Given the description of an element on the screen output the (x, y) to click on. 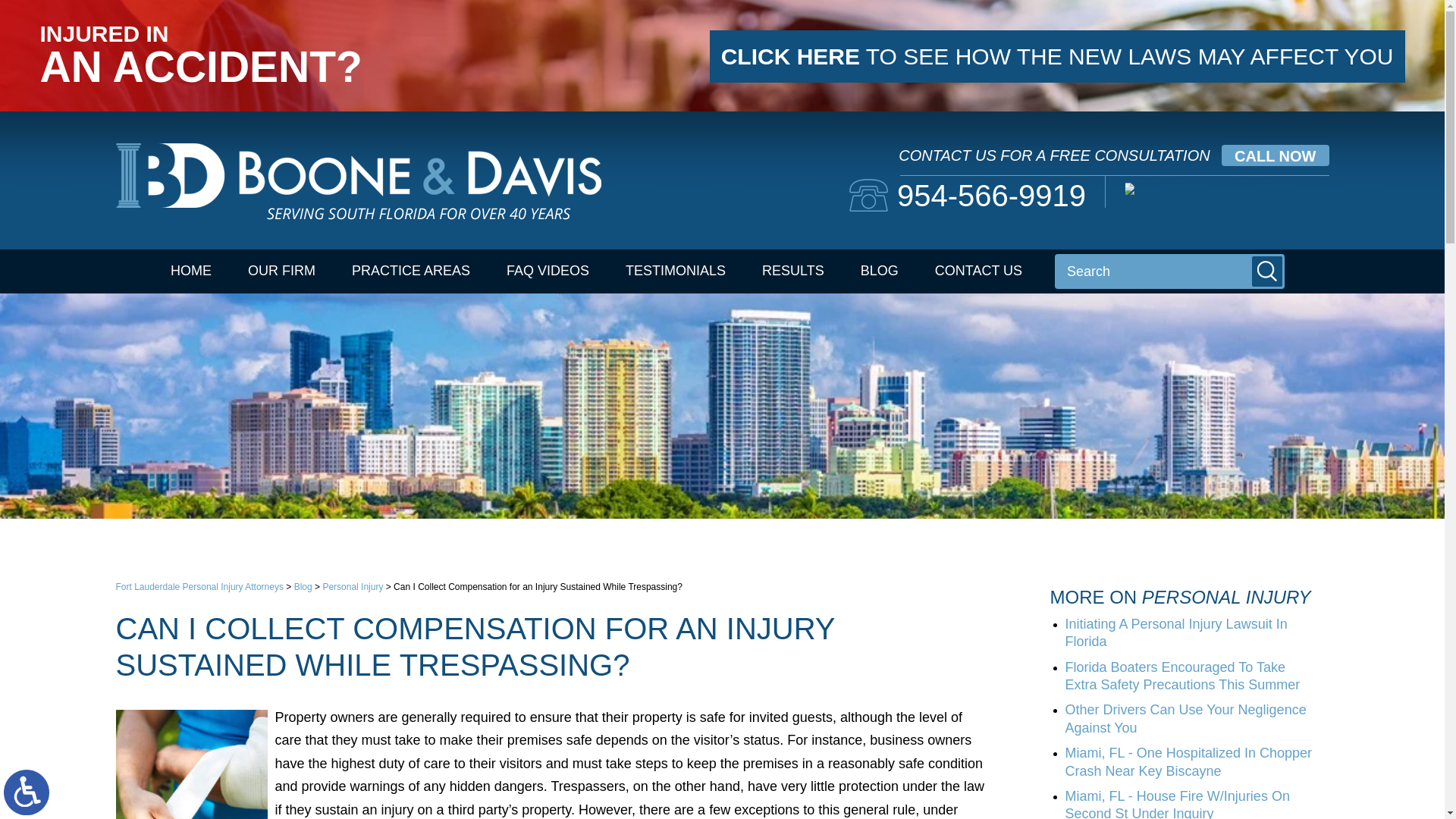
CALL NOW (1274, 155)
Submit (1267, 271)
CLICK HERE TO SEE HOW THE NEW LAWS MAY AFFECT YOU (1057, 56)
Switch to ADA Accessible Theme (26, 791)
954-566-9919 (967, 195)
PRACTICE AREAS (410, 271)
OUR FIRM (281, 271)
HOME (191, 271)
